Given the description of an element on the screen output the (x, y) to click on. 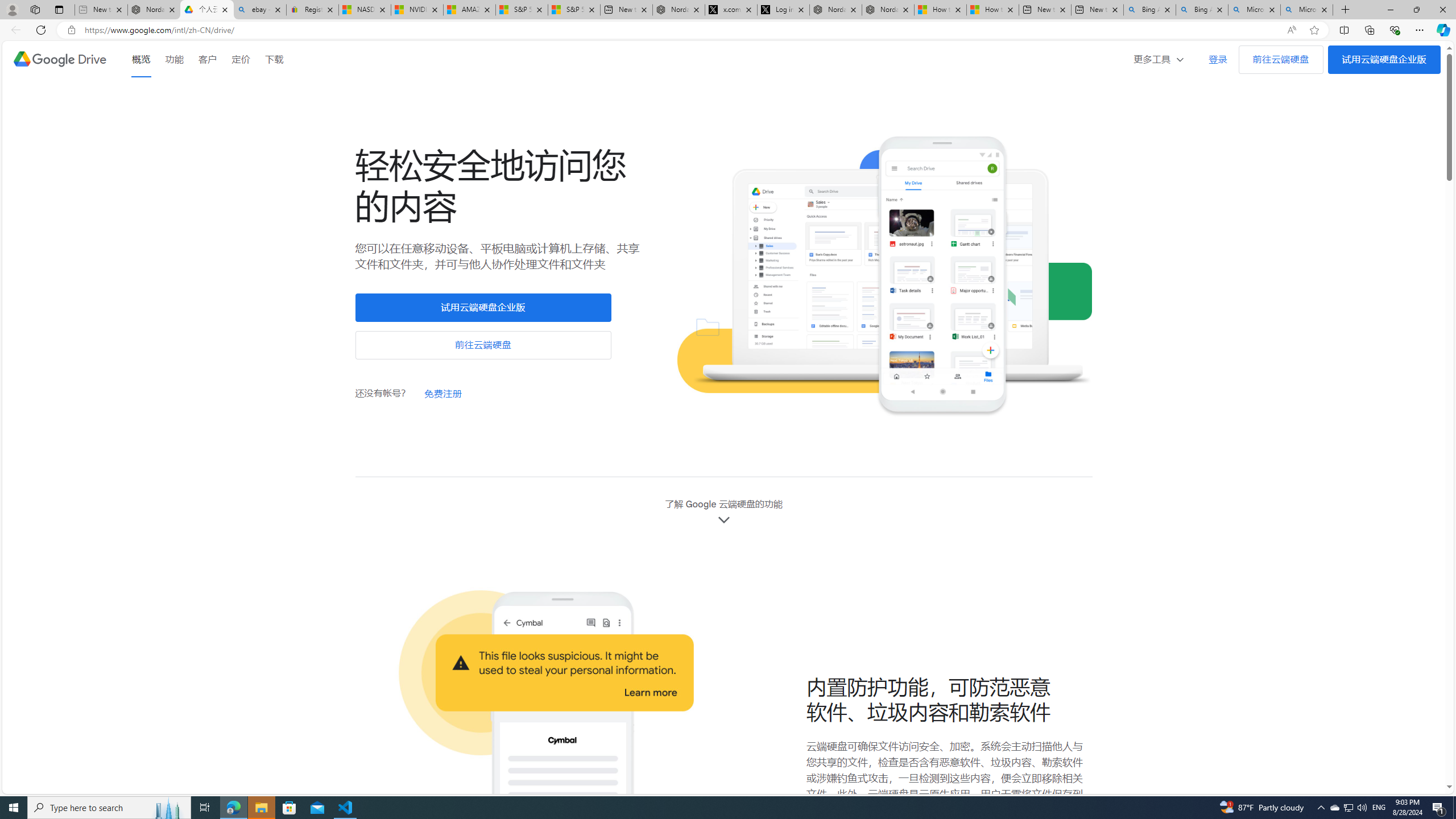
Microsoft Bing Timeline - Search (1306, 9)
New tab - Sleeping (100, 9)
